Given the description of an element on the screen output the (x, y) to click on. 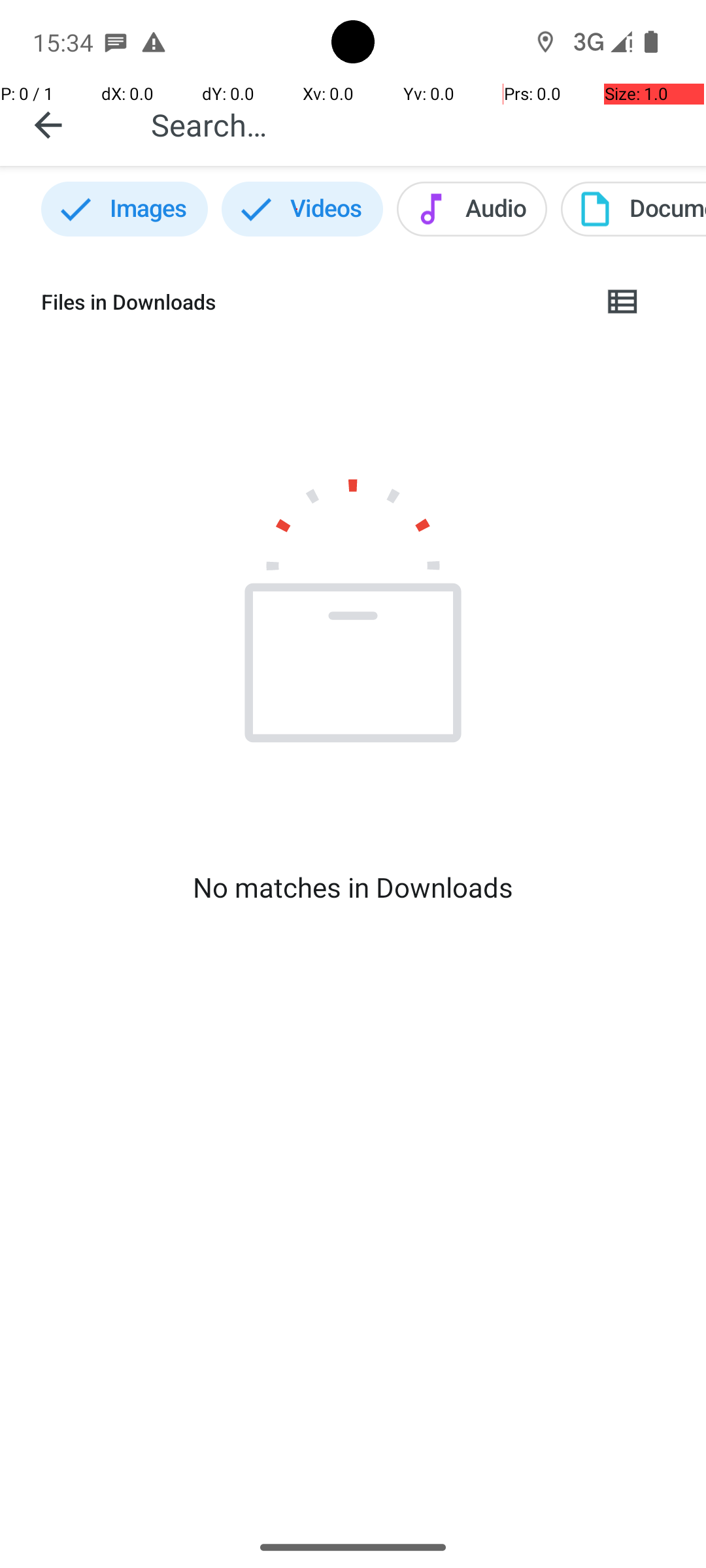
Files in Downloads Element type: android.widget.TextView (311, 301)
List view Element type: android.widget.TextView (622, 301)
Search… Element type: android.widget.AutoCompleteTextView (414, 124)
Images Element type: android.widget.CompoundButton (124, 208)
Videos Element type: android.widget.CompoundButton (302, 208)
Audio Element type: android.widget.CompoundButton (471, 208)
Documents Element type: android.widget.CompoundButton (633, 208)
No matches in Downloads Element type: android.widget.TextView (352, 886)
